Given the description of an element on the screen output the (x, y) to click on. 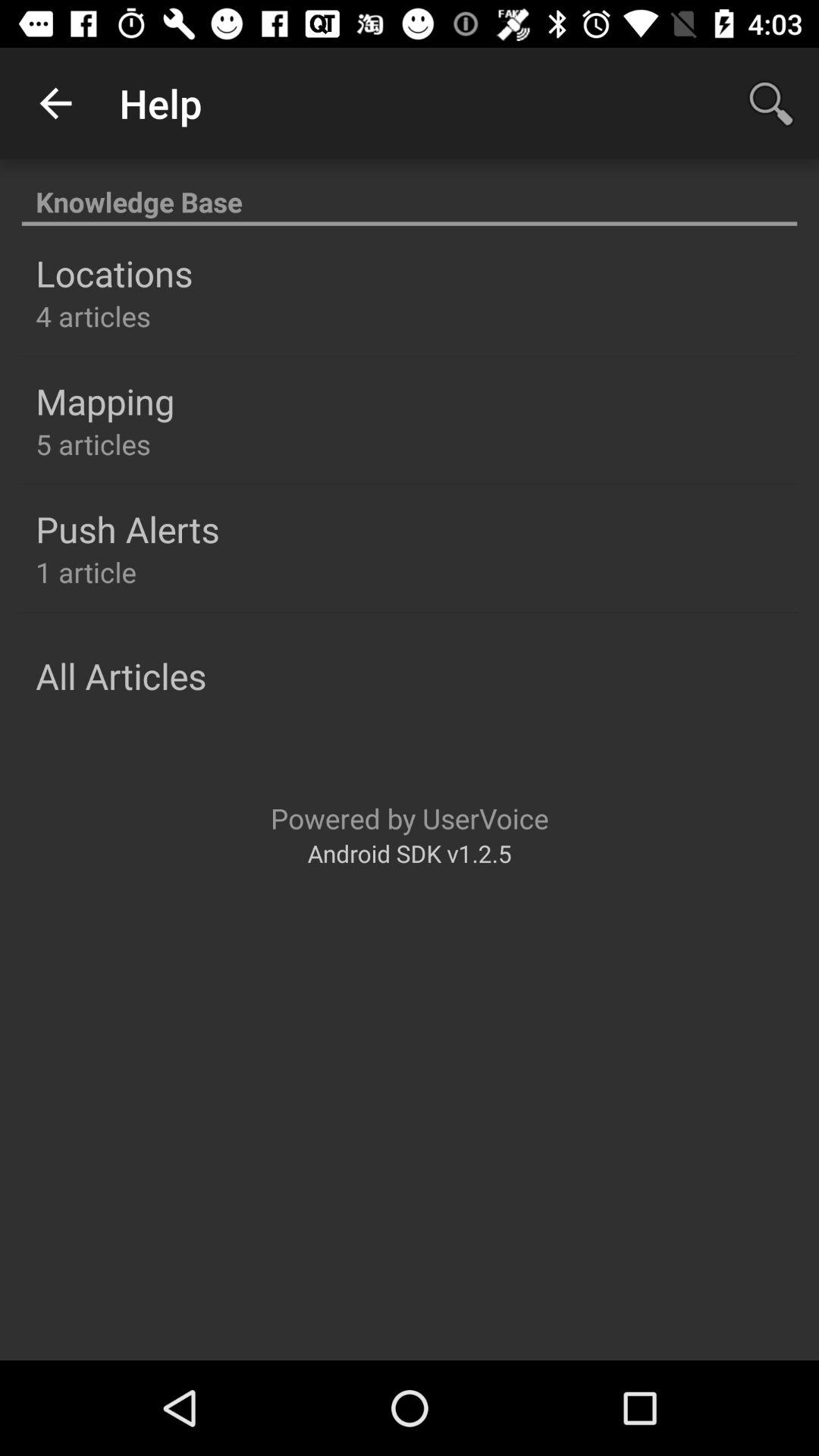
tap mapping (104, 401)
